Given the description of an element on the screen output the (x, y) to click on. 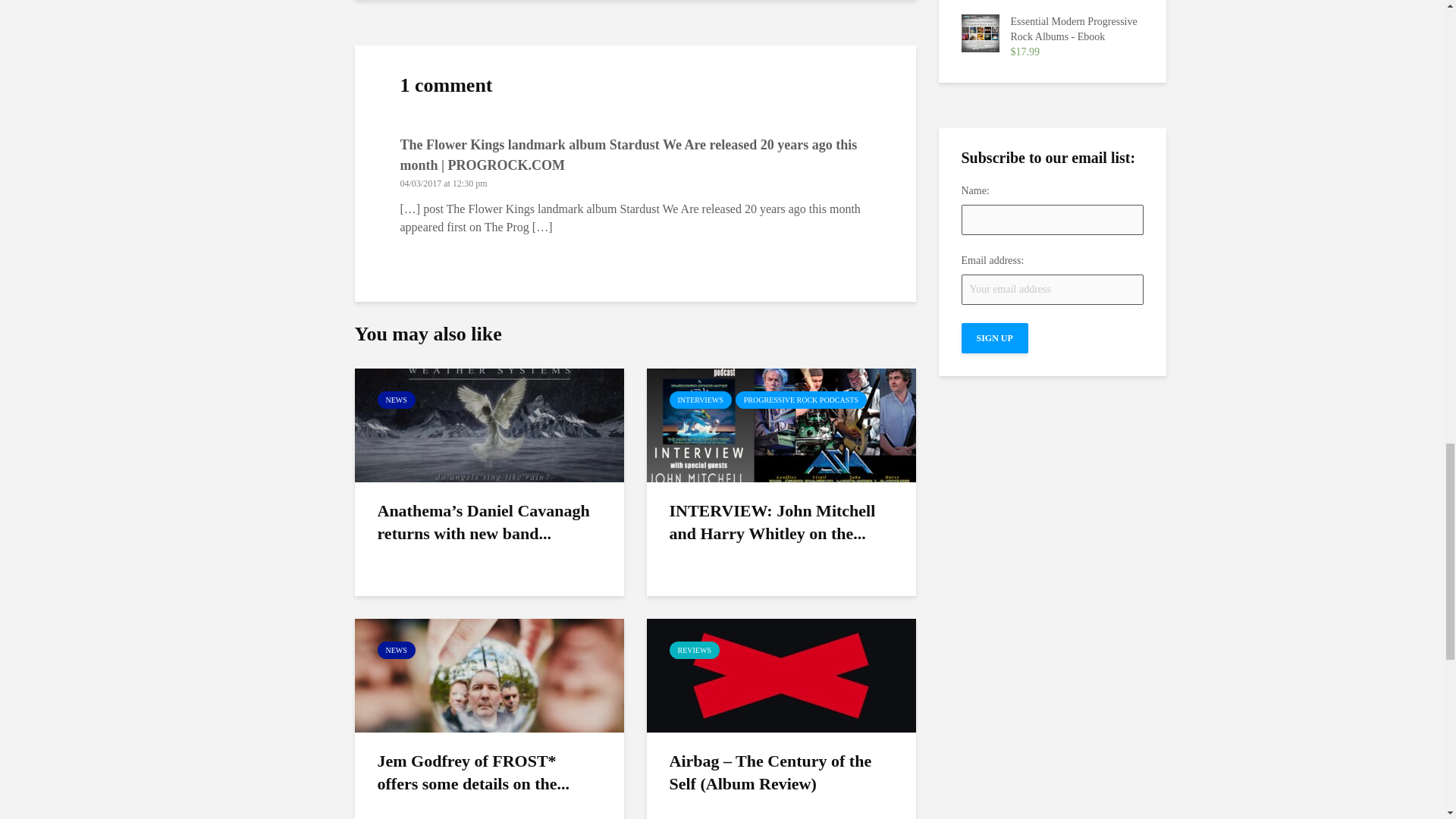
Sign up (993, 337)
